Given the description of an element on the screen output the (x, y) to click on. 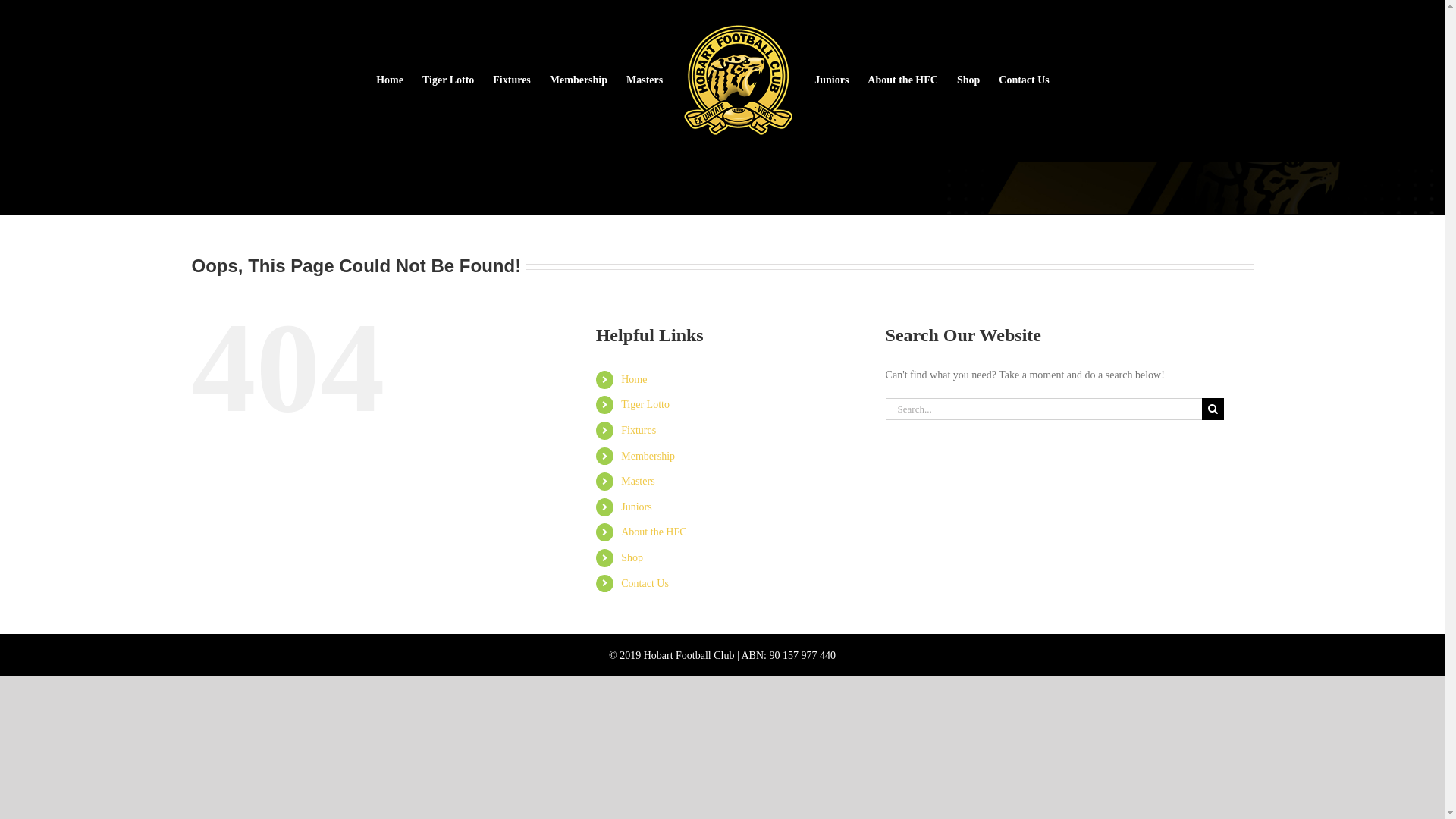
Contact Us Element type: text (644, 583)
Contact Us Element type: text (1023, 80)
Masters Element type: text (644, 80)
Membership Element type: text (578, 80)
Shop Element type: text (968, 80)
Fixtures Element type: text (511, 80)
Membership Element type: text (647, 455)
Tiger Lotto Element type: text (447, 80)
Masters Element type: text (637, 480)
Home Element type: text (389, 80)
About the HFC Element type: text (653, 531)
Juniors Element type: text (831, 80)
Fixtures Element type: text (638, 430)
Shop Element type: text (632, 557)
About the HFC Element type: text (902, 80)
Home Element type: text (633, 379)
Juniors Element type: text (636, 506)
Tiger Lotto Element type: text (645, 404)
